Given the description of an element on the screen output the (x, y) to click on. 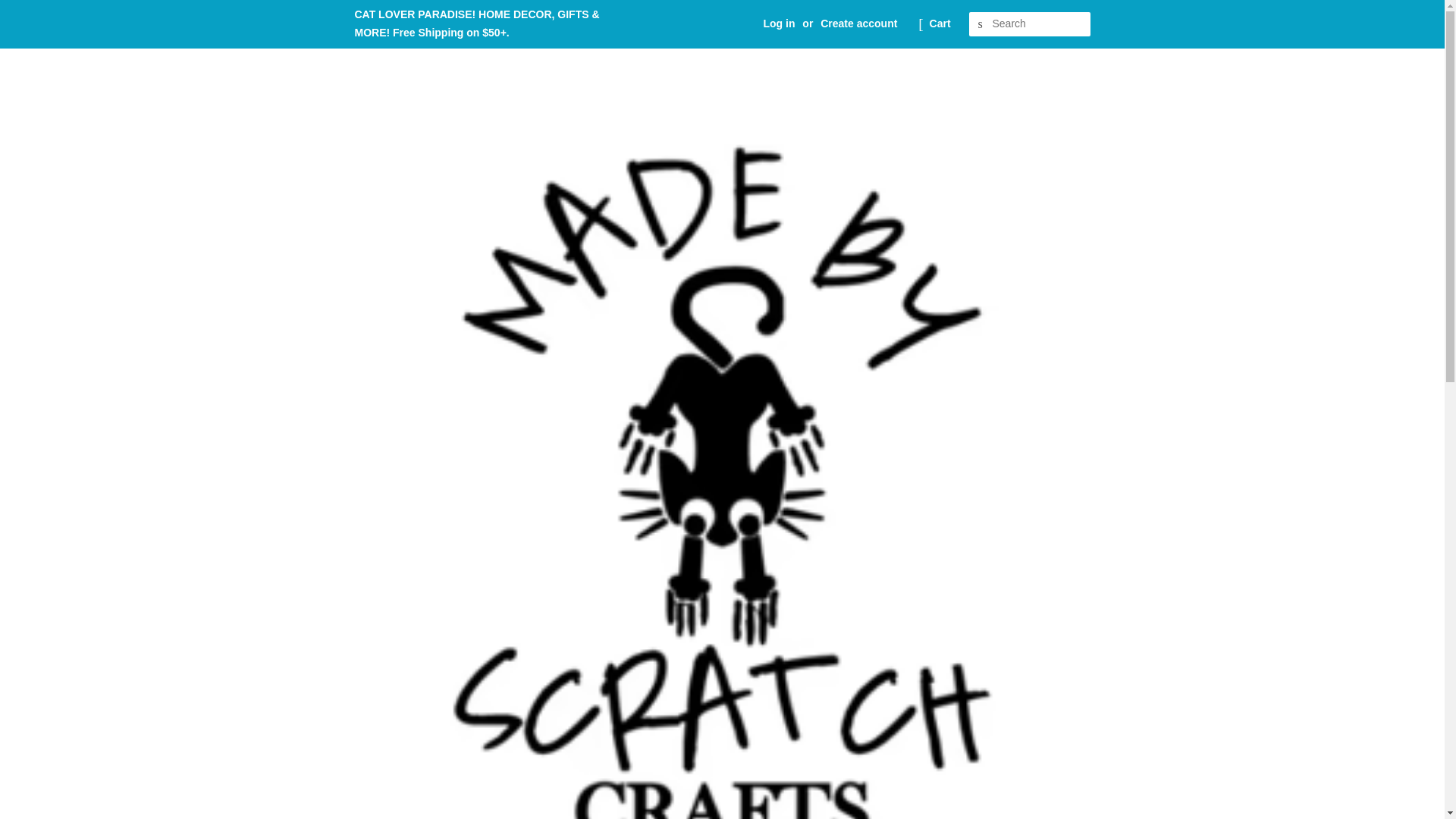
SEARCH (980, 24)
Log in (778, 23)
Create account (858, 23)
Cart (940, 24)
